Given the description of an element on the screen output the (x, y) to click on. 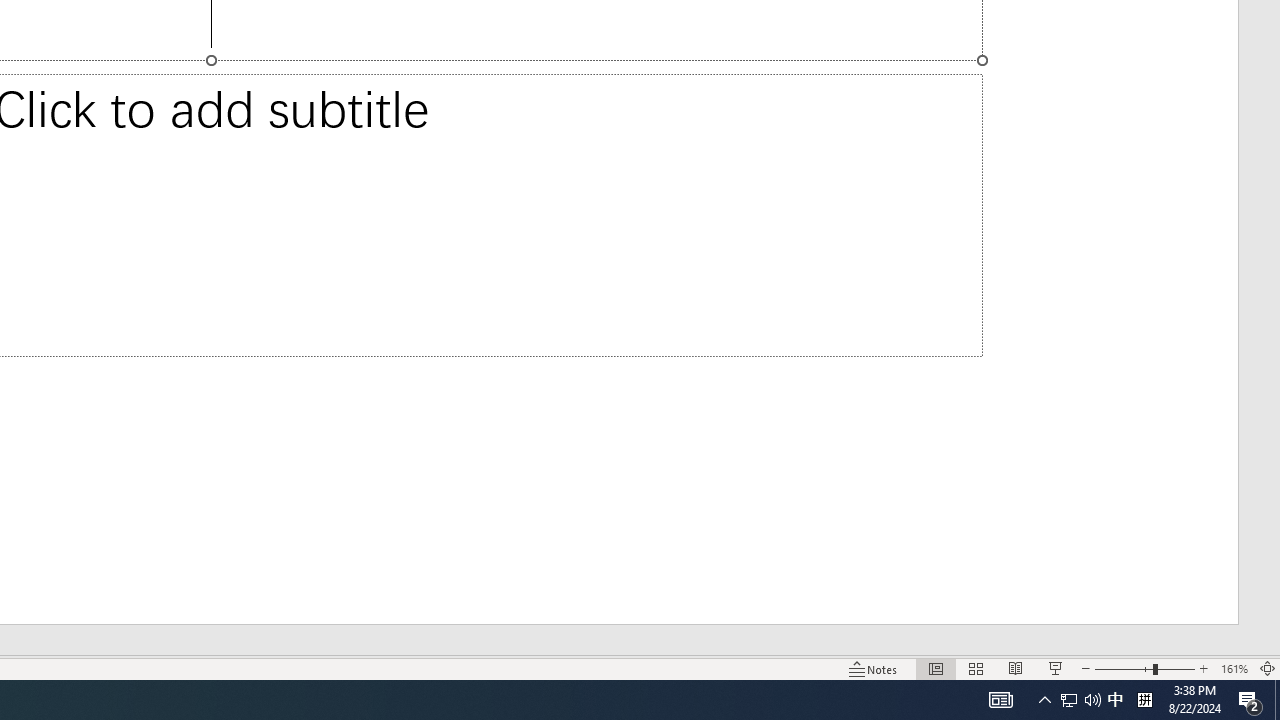
Zoom 161% (1234, 668)
